Given the description of an element on the screen output the (x, y) to click on. 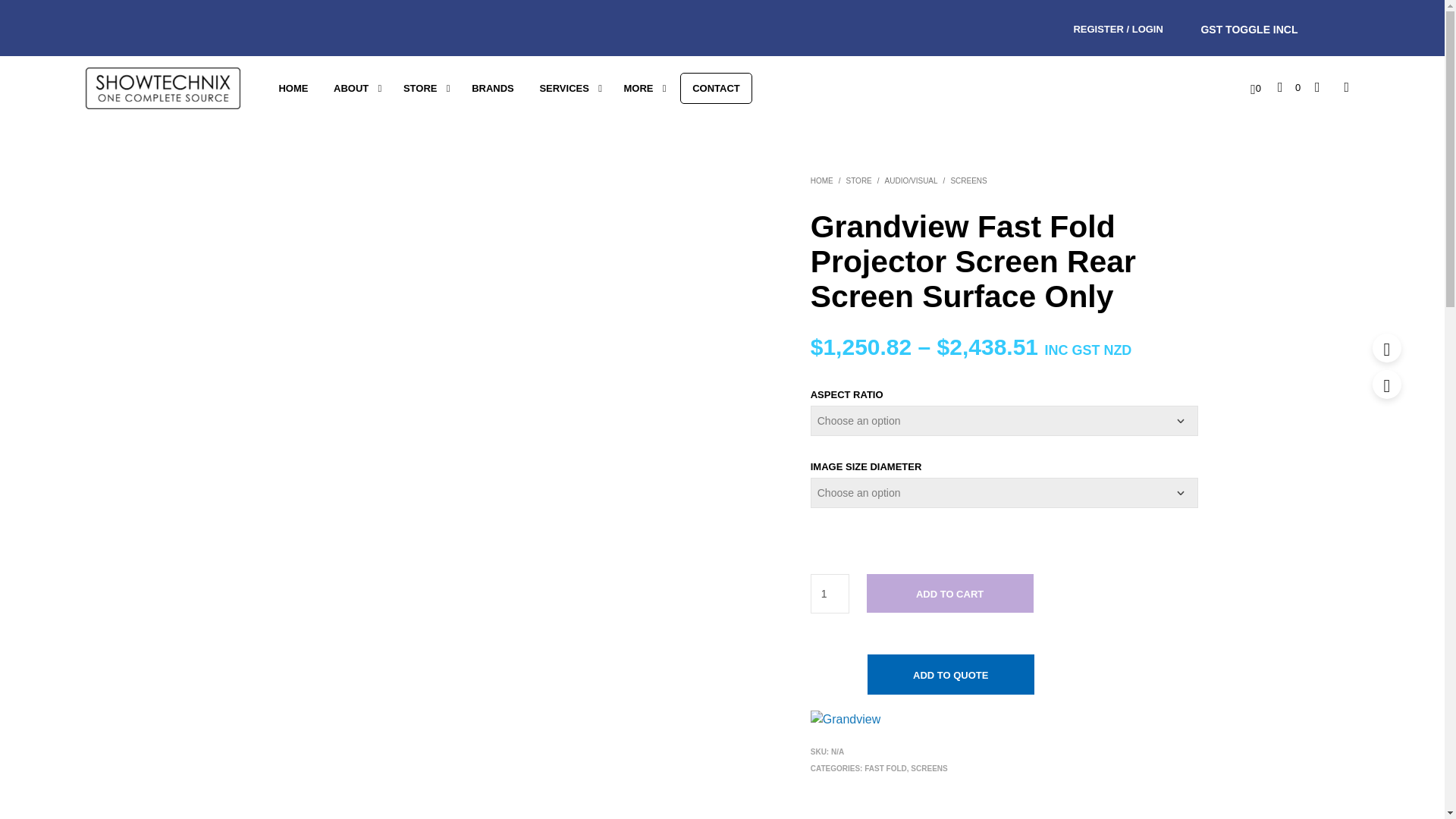
MORE (638, 88)
GST toggle incl (1249, 29)
BRANDS (492, 88)
SERVICES (563, 88)
ABOUT (350, 88)
GST toggle incl (1249, 29)
1 (829, 593)
CONTACT (715, 88)
HOME (292, 88)
STORE (419, 88)
